Given the description of an element on the screen output the (x, y) to click on. 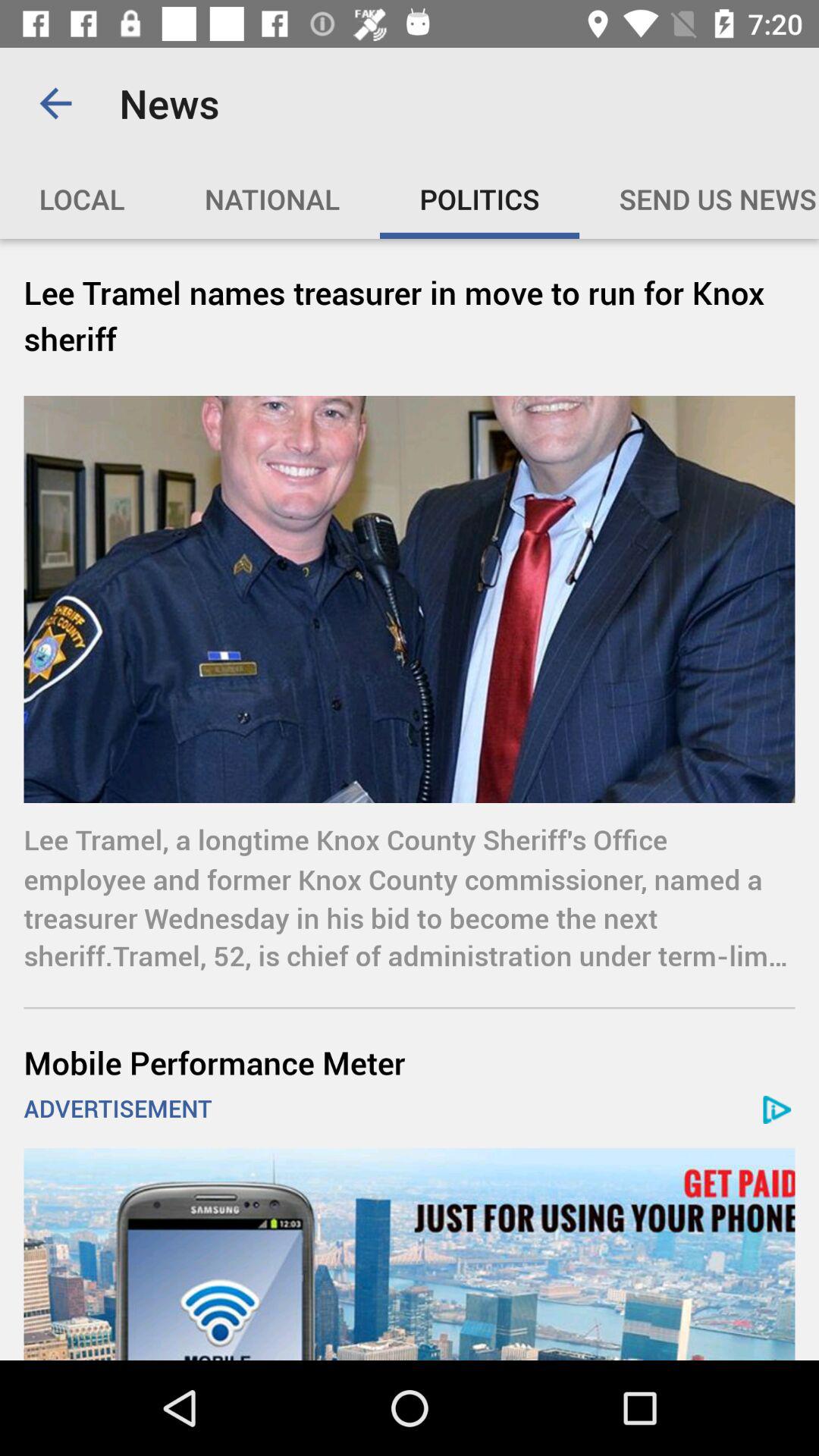
launch icon above the local item (55, 103)
